Given the description of an element on the screen output the (x, y) to click on. 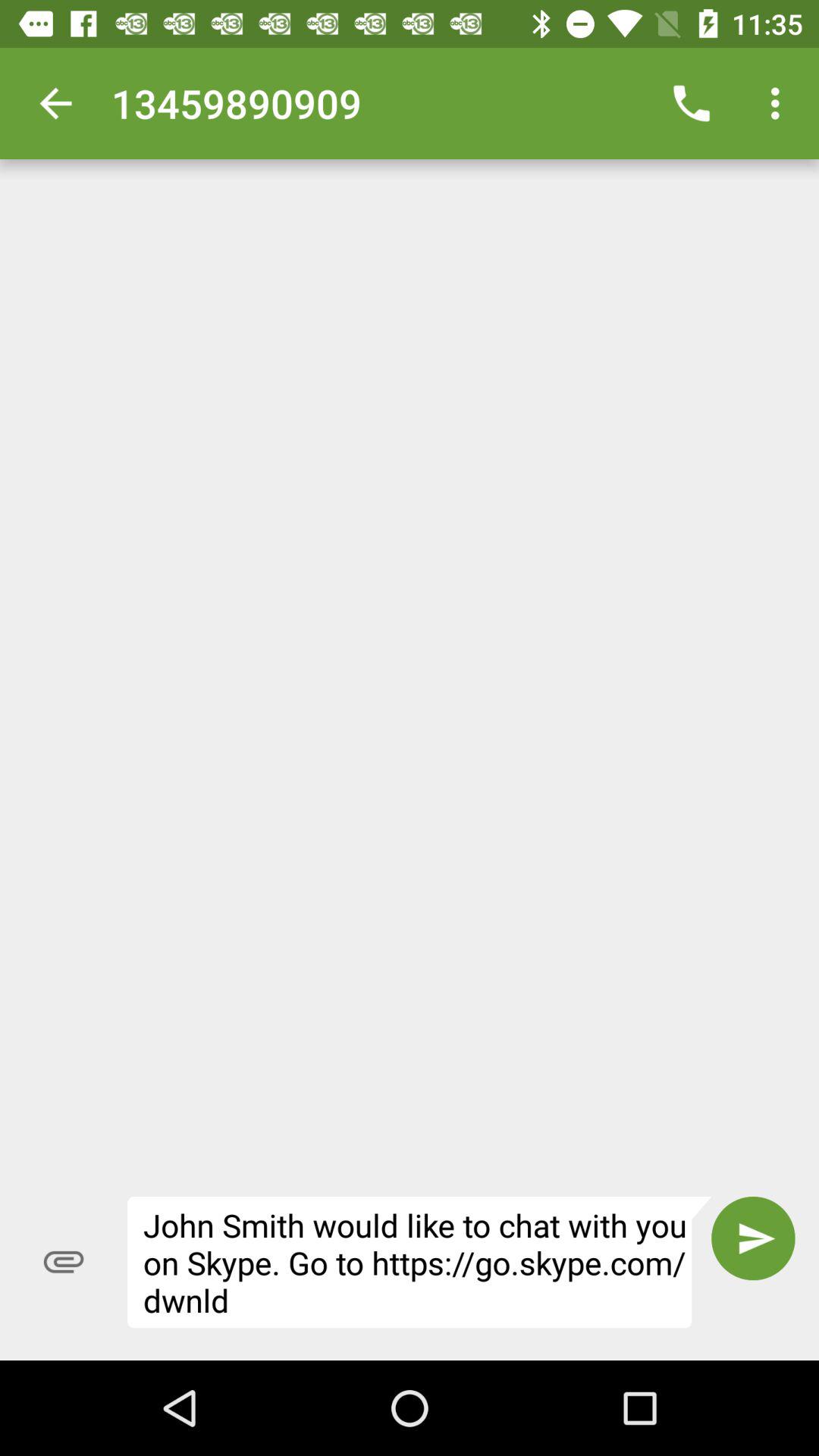
choose the item to the right of 13459890909 icon (691, 103)
